Given the description of an element on the screen output the (x, y) to click on. 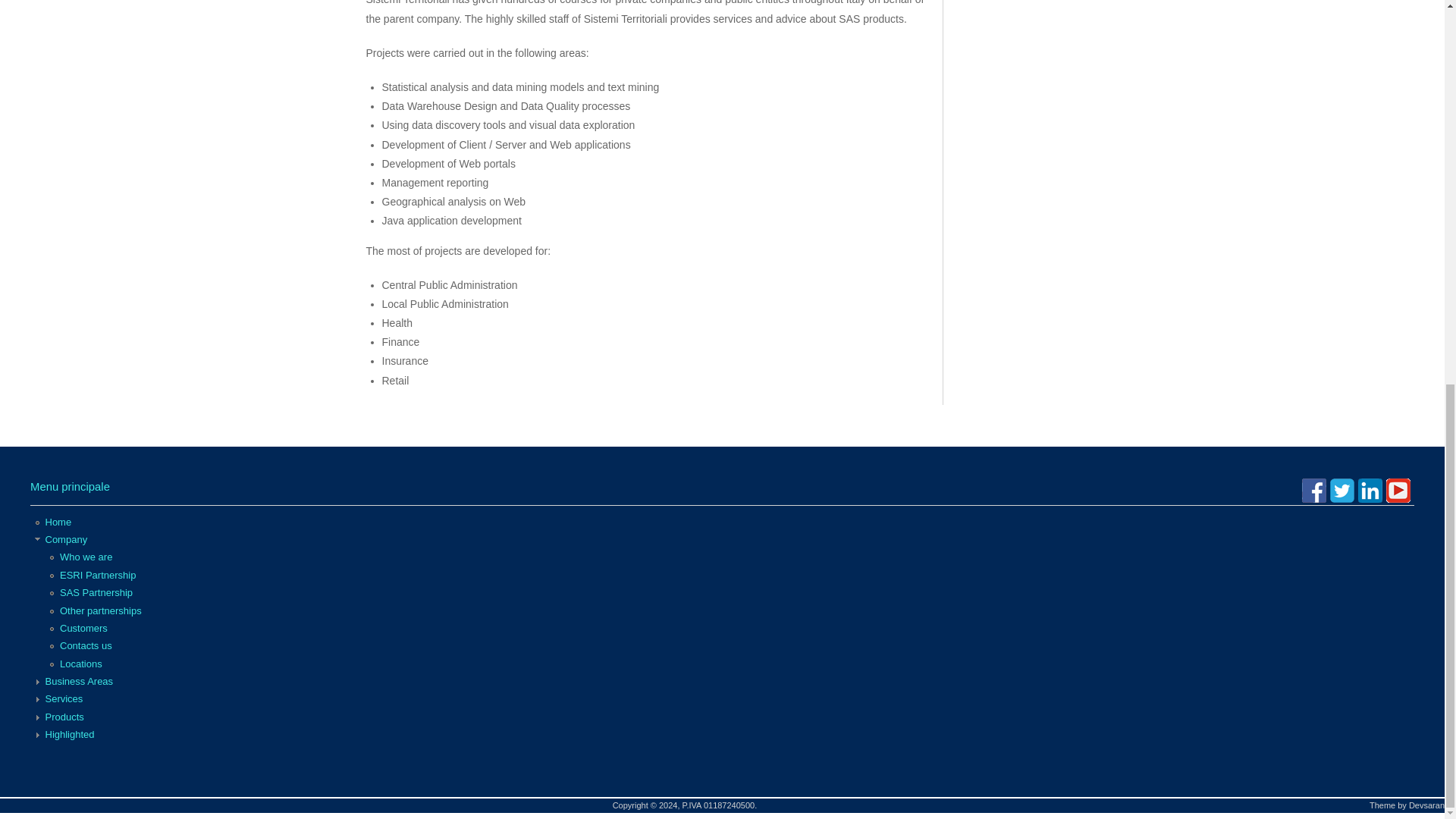
 su Twitter (1342, 490)
 su YouTube (1398, 490)
 su Linkein (1369, 490)
 su Facebook (1313, 490)
